Given the description of an element on the screen output the (x, y) to click on. 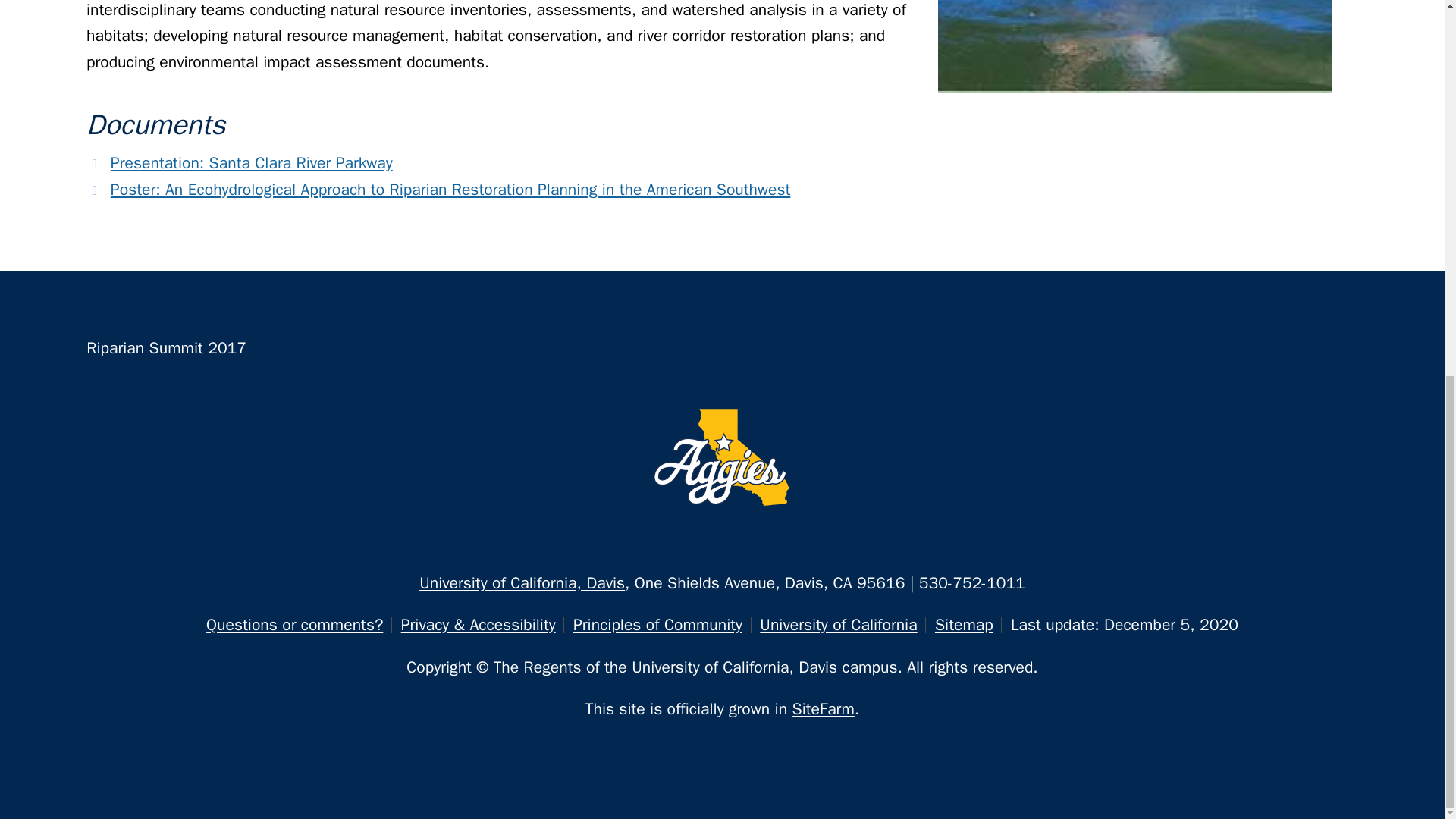
Orr Stillwater Ecohydrology Poster.pdf (450, 189)
Orr et al SCR Overview Riparian Summit 2017-red.pdf (251, 162)
